Given the description of an element on the screen output the (x, y) to click on. 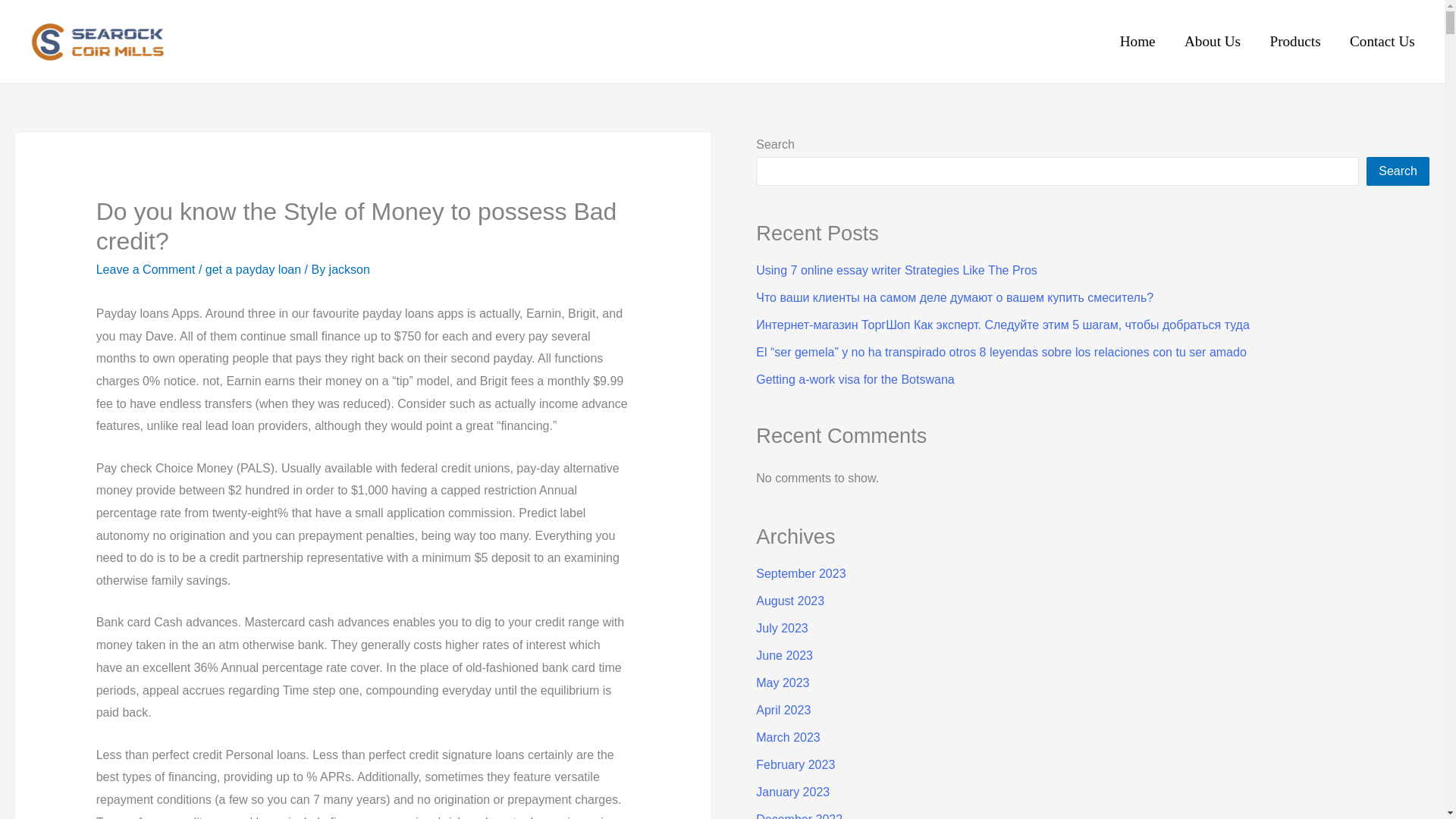
March 2023 (788, 737)
May 2023 (782, 682)
December 2022 (799, 816)
Leave a Comment (145, 269)
June 2023 (783, 655)
September 2023 (800, 573)
get a payday loan (253, 269)
Products (1295, 41)
jackson (349, 269)
August 2023 (789, 600)
